Given the description of an element on the screen output the (x, y) to click on. 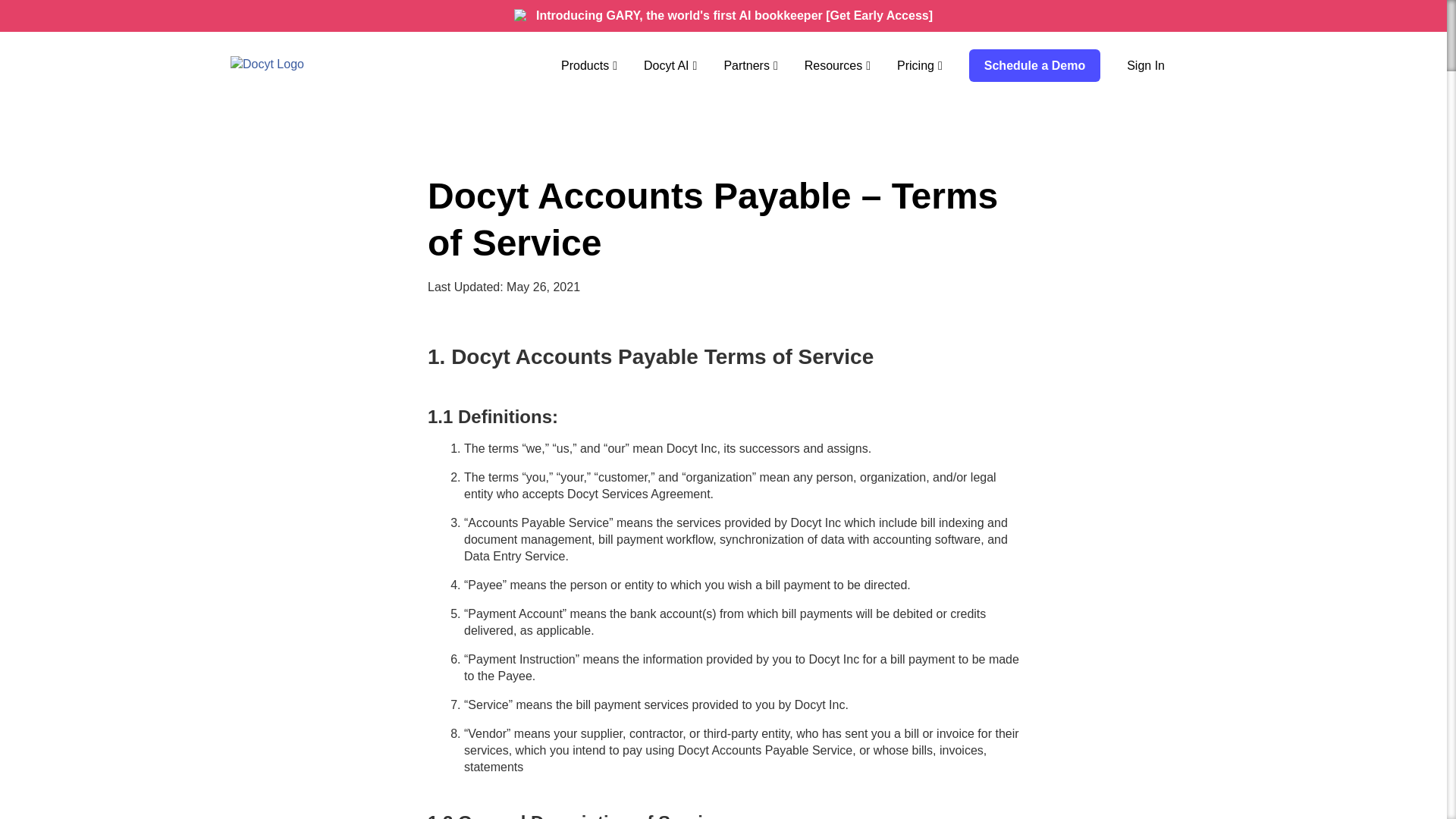
Partners (750, 65)
Docyt AI (670, 65)
Resources (837, 65)
Products (588, 65)
